Given the description of an element on the screen output the (x, y) to click on. 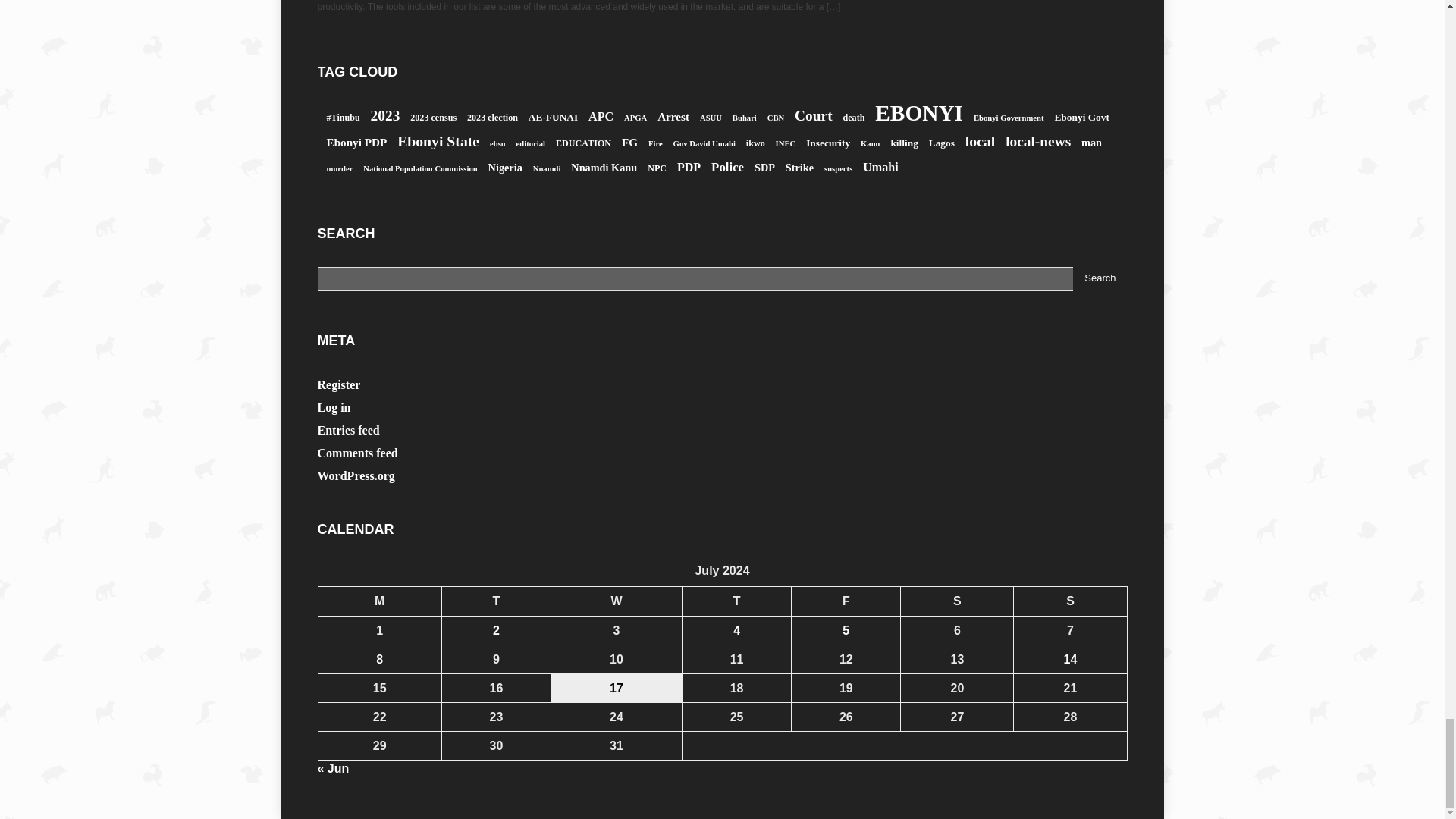
Search (1099, 278)
